Given the description of an element on the screen output the (x, y) to click on. 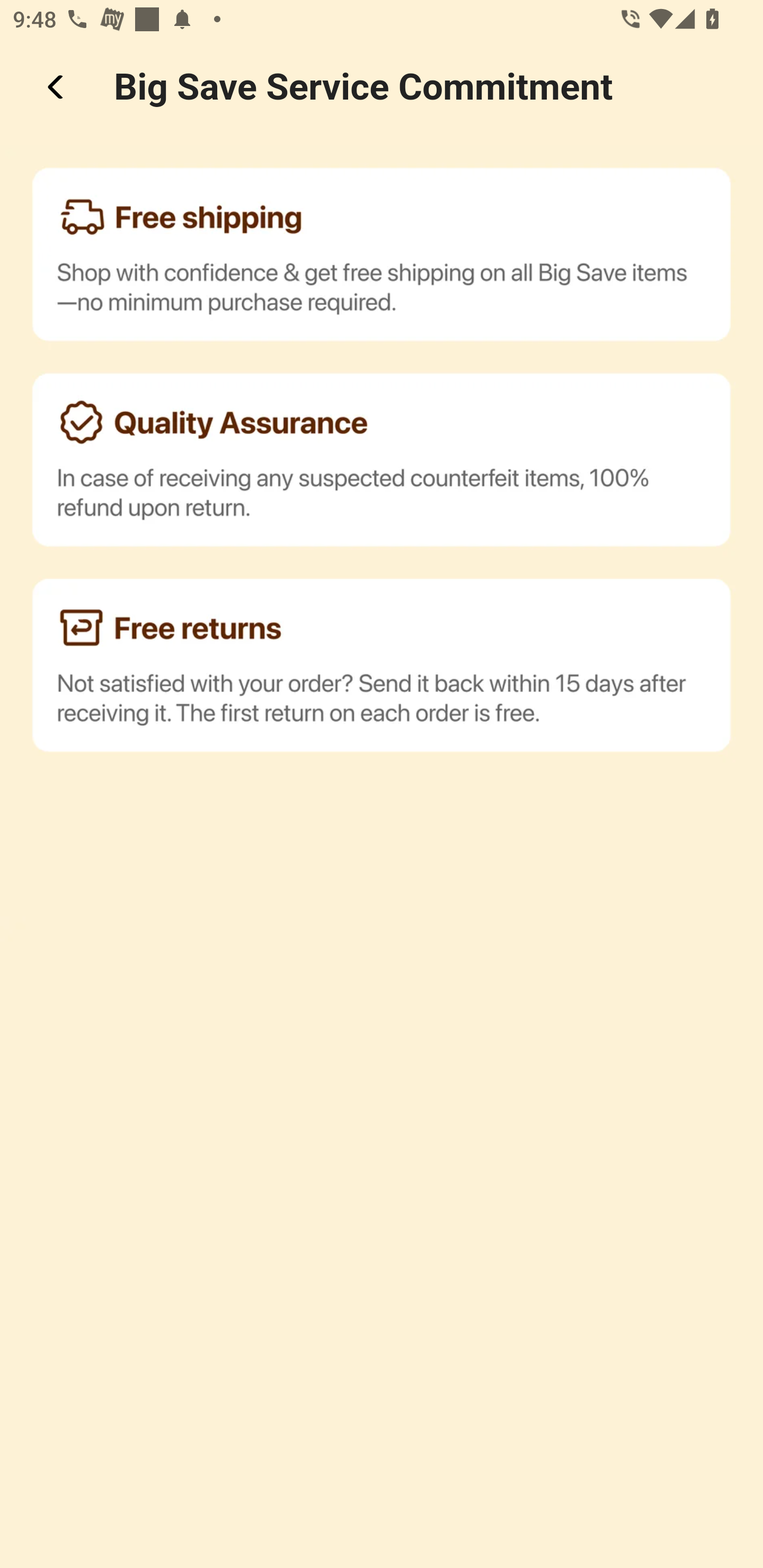
 (57, 86)
